Given the description of an element on the screen output the (x, y) to click on. 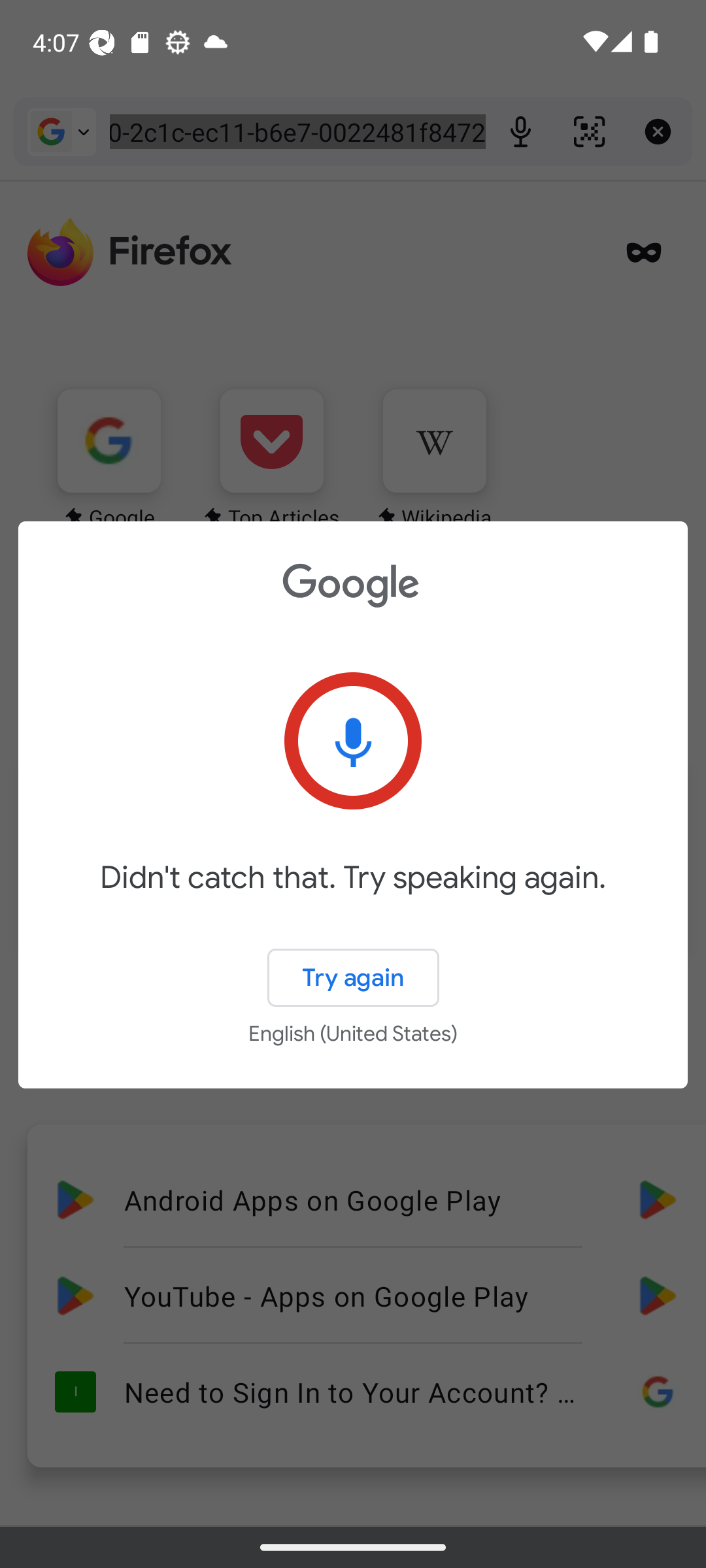
Tap to try again (353, 740)
Try again (353, 977)
